Given the description of an element on the screen output the (x, y) to click on. 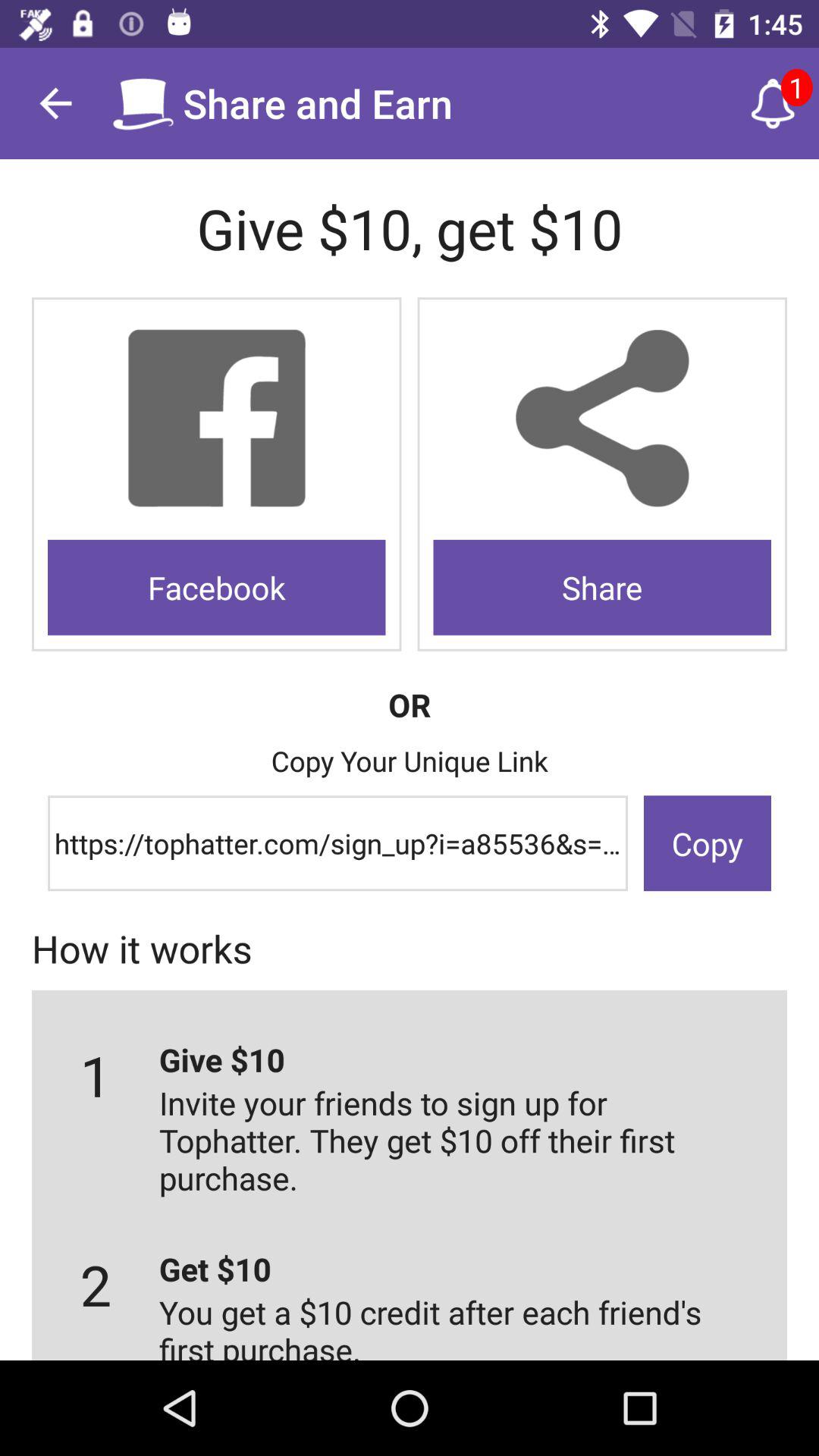
toggle share option (602, 418)
